Given the description of an element on the screen output the (x, y) to click on. 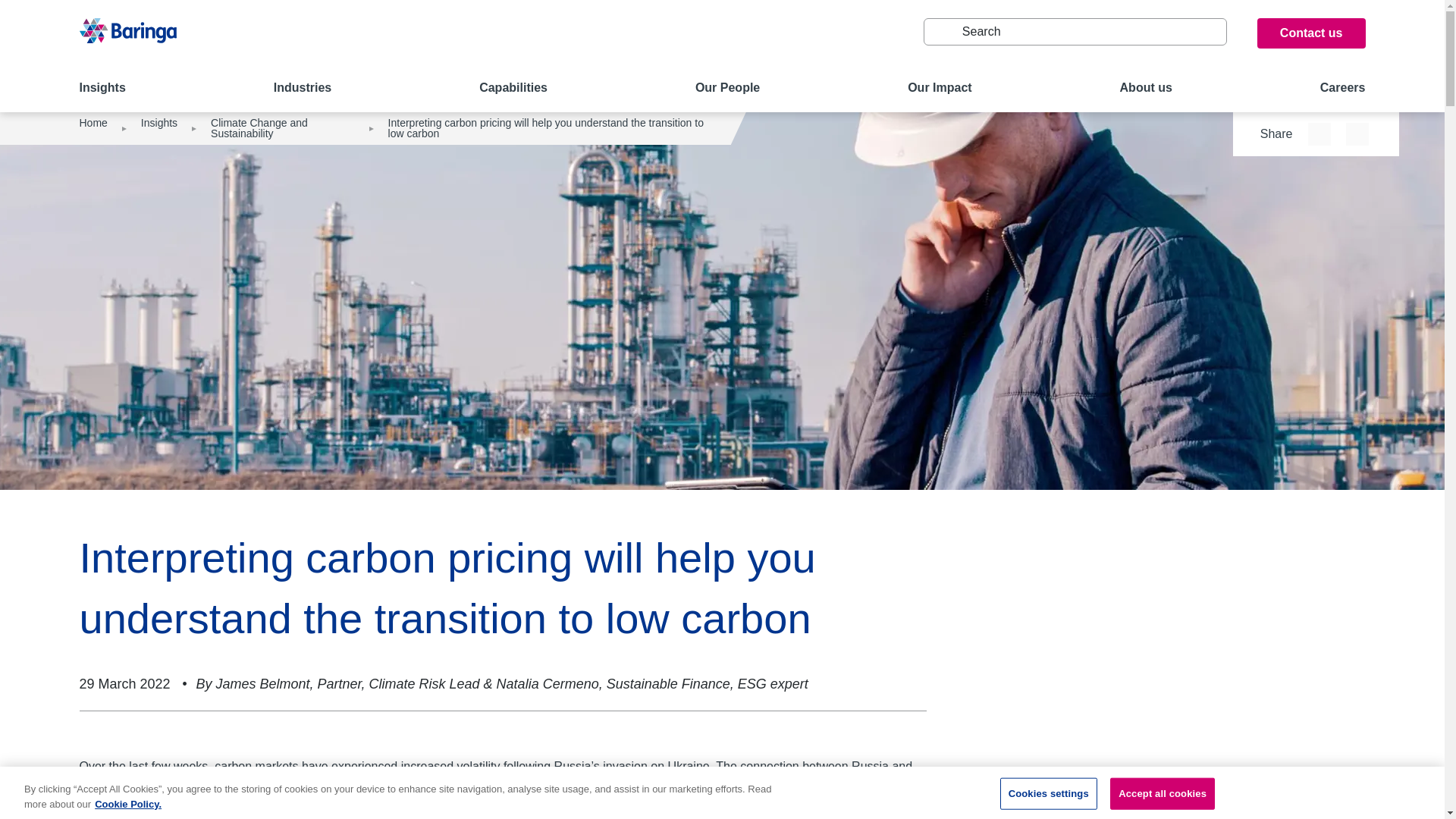
Search (941, 31)
Industries (302, 89)
Insights (101, 89)
Contact us (1311, 33)
Baringa Partners LLP (127, 38)
